Given the description of an element on the screen output the (x, y) to click on. 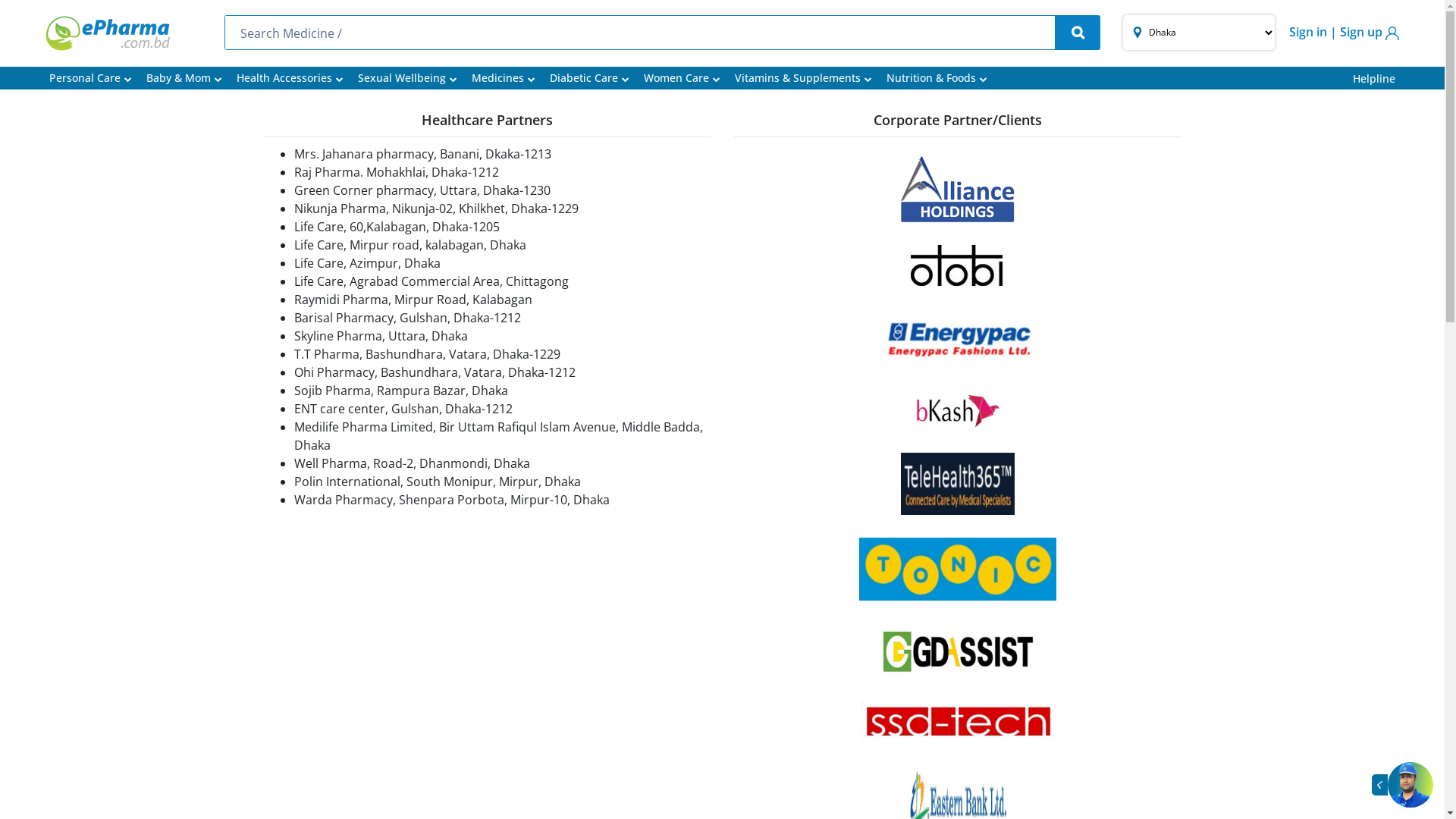
Helpline Element type: text (1373, 78)
Medicines Element type: text (503, 78)
Health Accessories Element type: text (289, 78)
tonic Element type: hover (956, 568)
Personal Care Element type: text (90, 78)
ssd-tech Element type: hover (956, 720)
Baby & Mom Element type: text (184, 78)
Nutrition & Foods Element type: text (936, 78)
energypac Element type: hover (956, 339)
Diabetic Care Element type: text (589, 78)
Vitamins & Supplements Element type: text (803, 78)
Sexual Wellbeing Element type: text (407, 78)
bkash_s Element type: hover (957, 410)
Subsidiaries-Image-GD-Assist1 Element type: hover (957, 650)
Women Care Element type: text (681, 78)
